Given the description of an element on the screen output the (x, y) to click on. 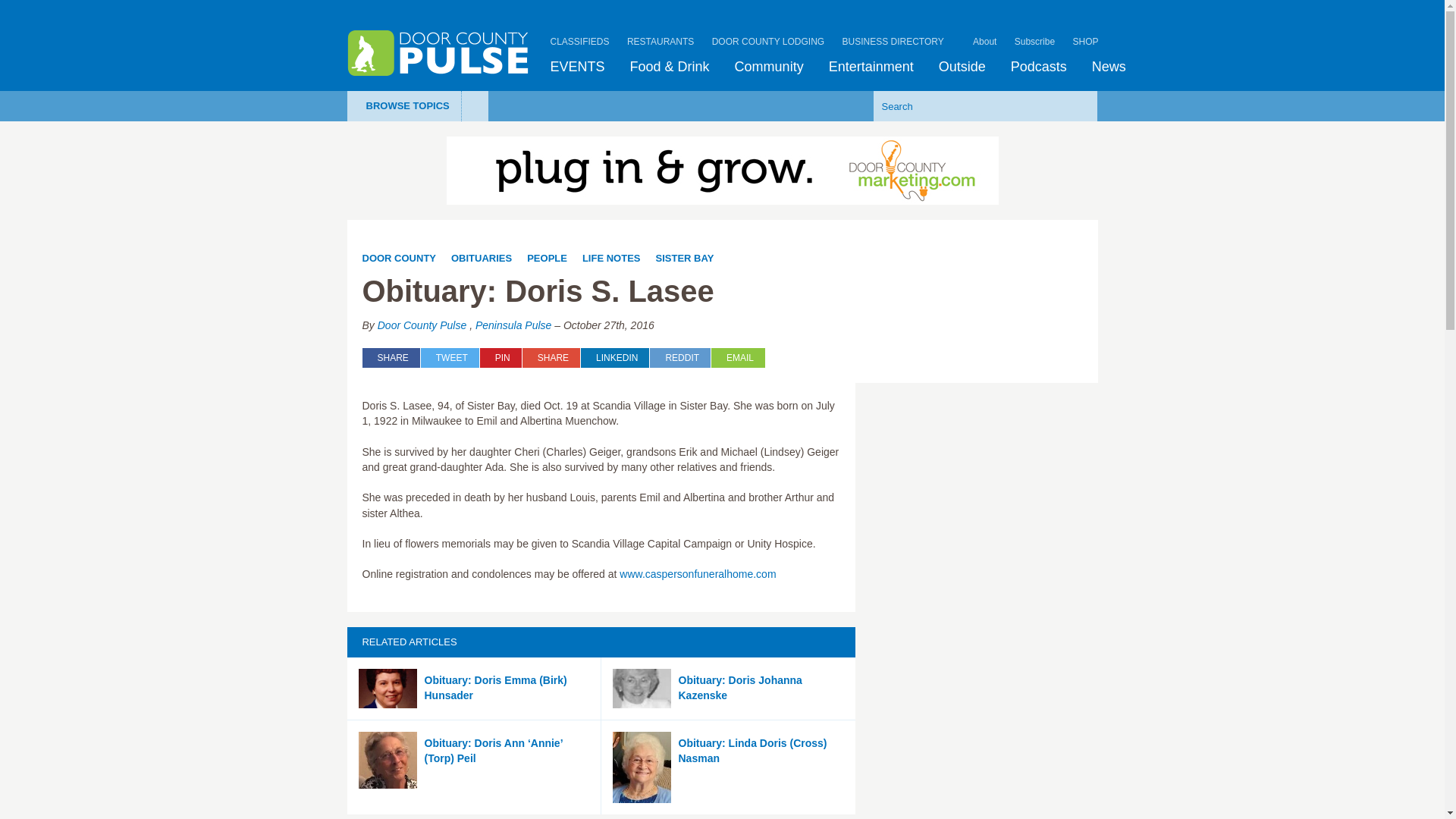
EVENTS (577, 66)
Community (768, 66)
Door County Pulse (437, 53)
Entertainment (871, 66)
Search for: (962, 105)
Posts by Door County Pulse (422, 325)
Outside (961, 66)
